Given the description of an element on the screen output the (x, y) to click on. 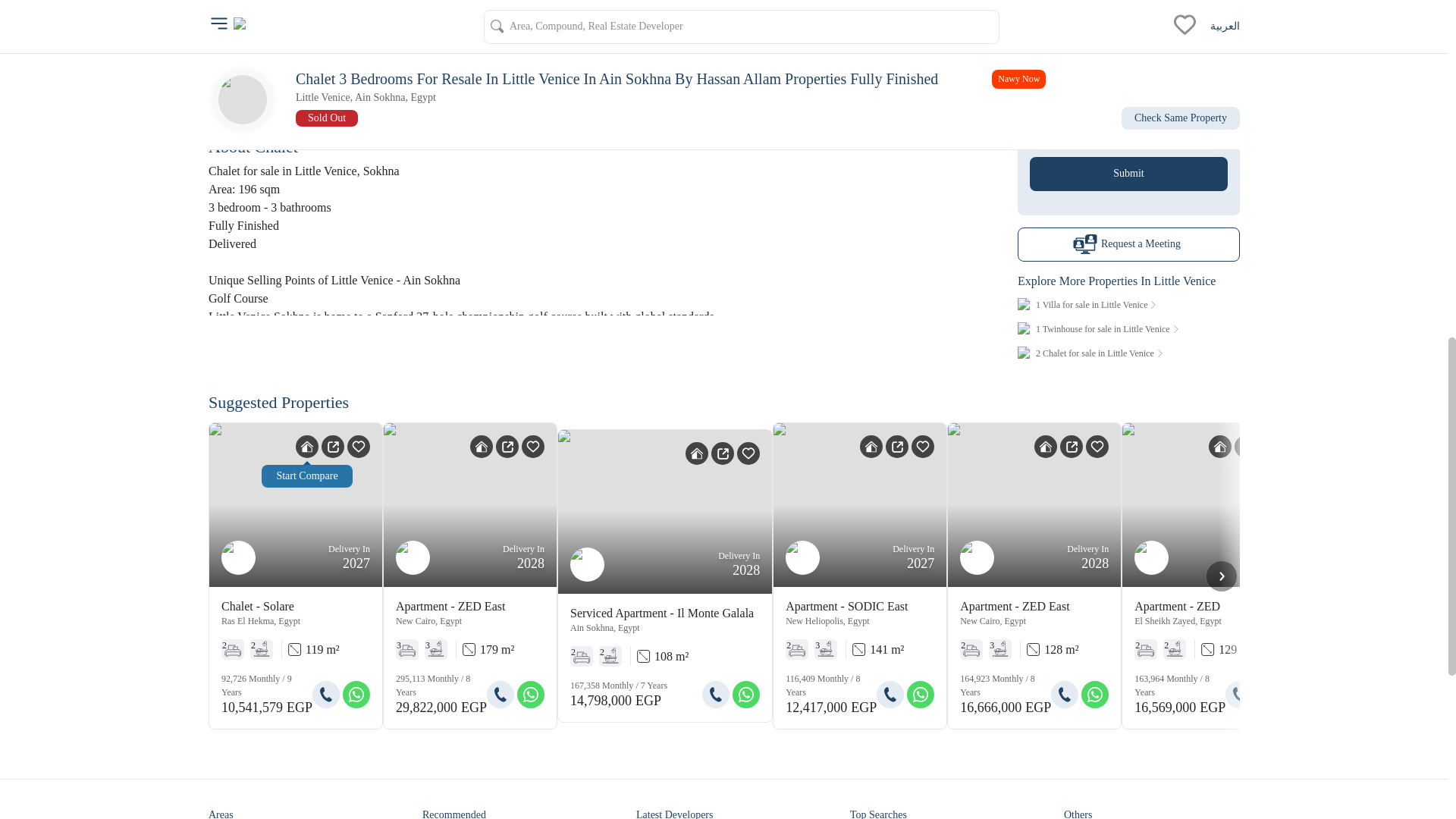
Submit (1128, 173)
1 Villa for sale in Little Venice (1128, 304)
1 Twinhouse for sale in Little Venice (1128, 328)
Request a Meeting (1128, 244)
2 Chalet for sale in Little Venice (1128, 352)
